Given the description of an element on the screen output the (x, y) to click on. 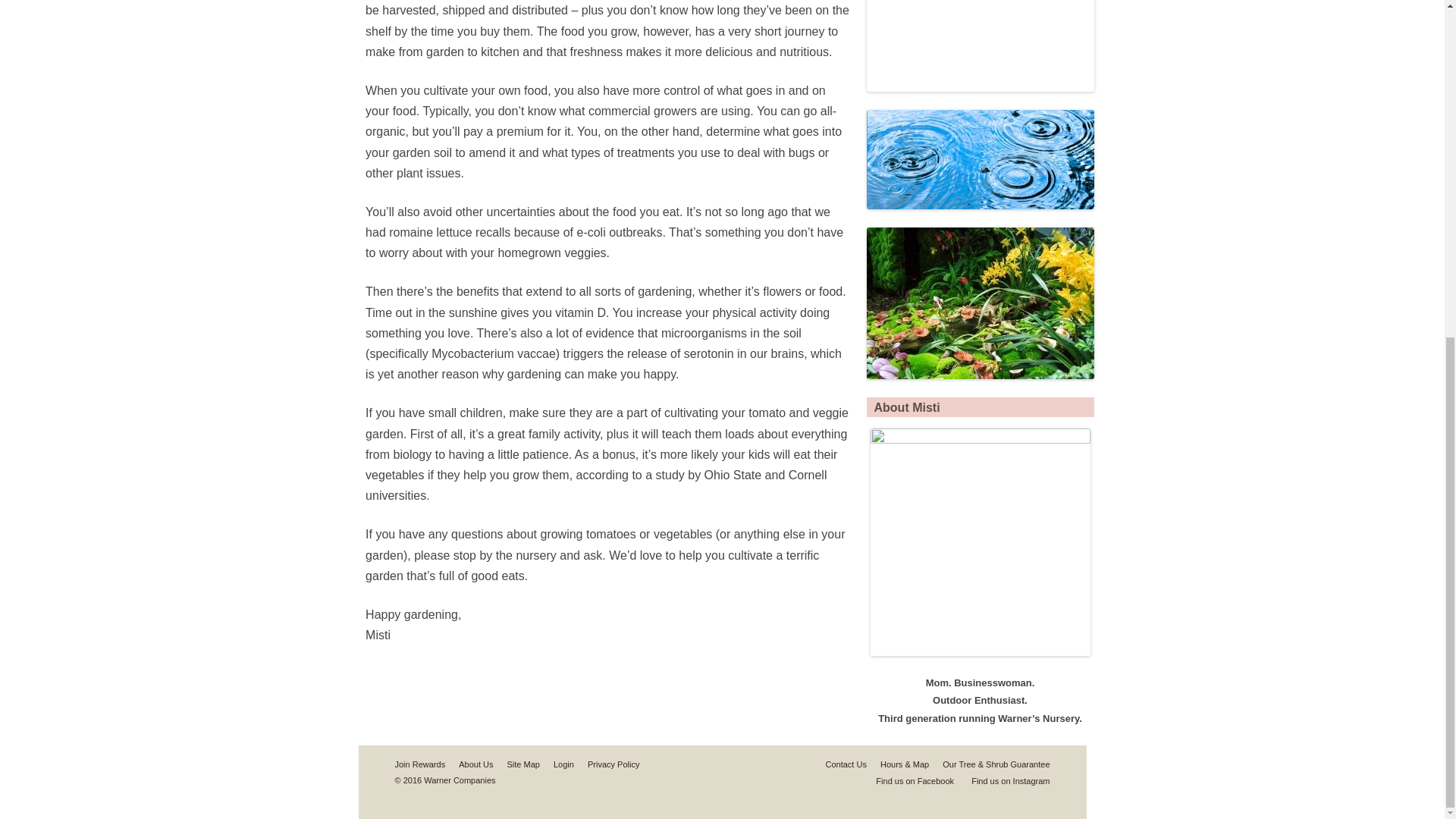
Join Rewards (419, 764)
Find us on Facebook (906, 780)
Site Map (523, 764)
Login (563, 764)
Privacy Policy (613, 764)
About Us (475, 764)
Contact Us (845, 764)
Login to the admin (563, 764)
